Given the description of an element on the screen output the (x, y) to click on. 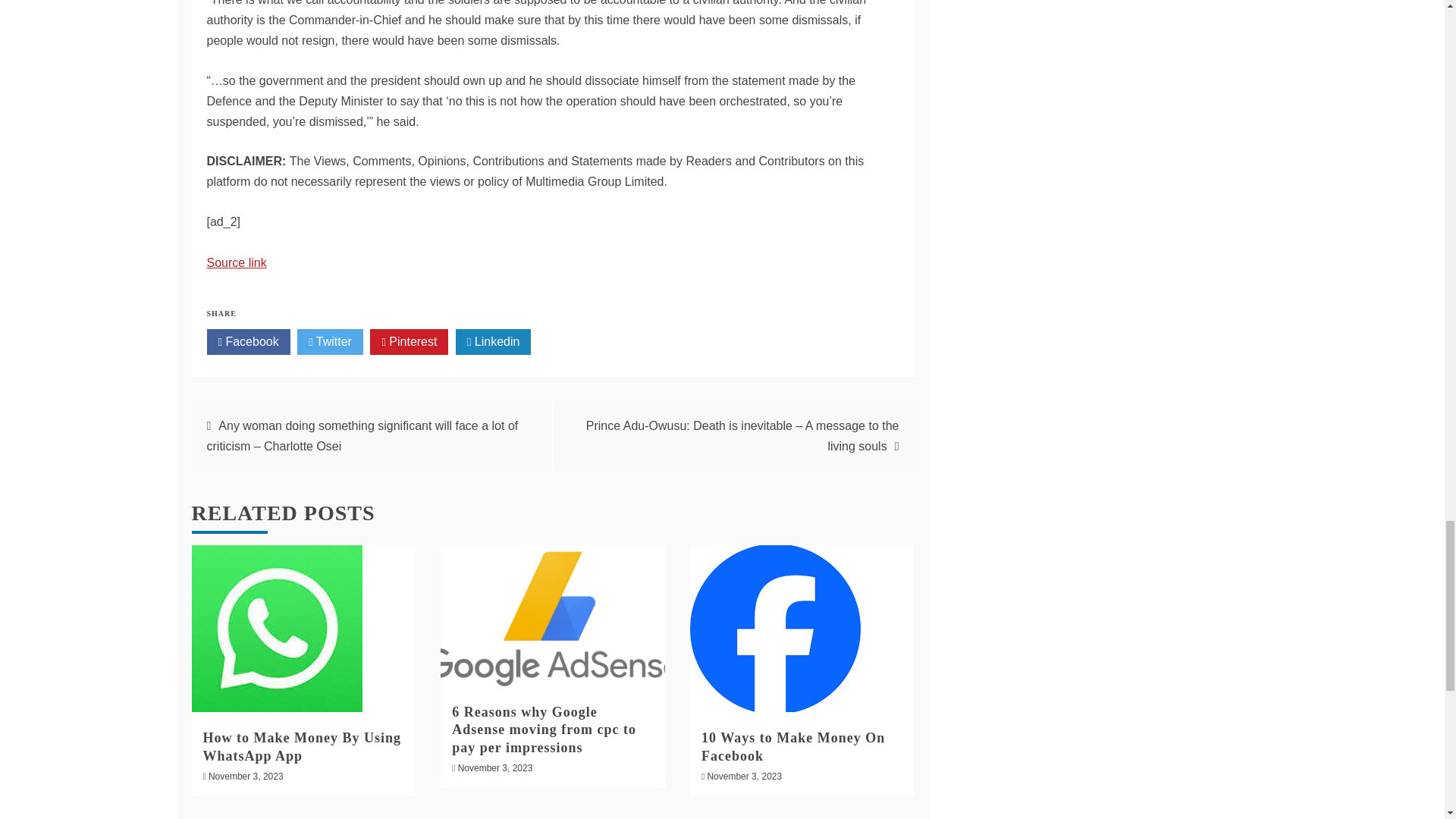
November 3, 2023 (245, 776)
Facebook (247, 341)
November 3, 2023 (743, 776)
Pinterest (408, 341)
How to Make Money By Using WhatsApp App (302, 746)
Twitter (329, 341)
10 Ways to Make Money On Facebook (793, 746)
November 3, 2023 (495, 767)
Linkedin (493, 341)
